Given the description of an element on the screen output the (x, y) to click on. 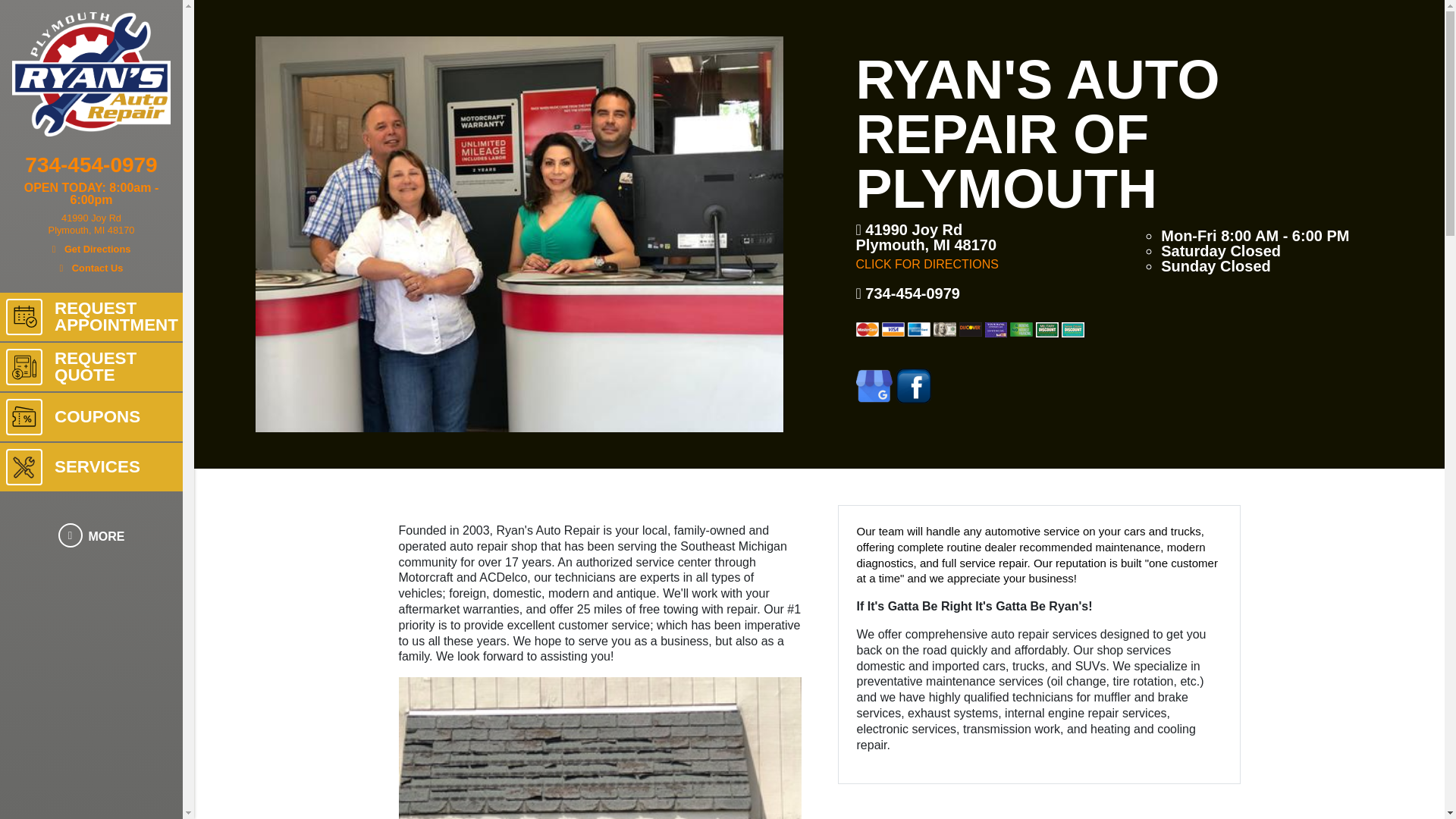
REQUEST QUOTE (91, 367)
734-454-0979 (90, 167)
MORE (90, 537)
SERVICES (91, 467)
6 Months No Interest Financing (1021, 329)
American Express (918, 329)
OPEN TODAY: 8:00am - 6:00pm (90, 193)
COUPONS (91, 417)
Debit Card (995, 329)
Contact Us (90, 265)
REQUEST APPOINTMENT (91, 316)
Discover (969, 329)
Mastercard (866, 329)
We Accept Cash (90, 234)
